Given the description of an element on the screen output the (x, y) to click on. 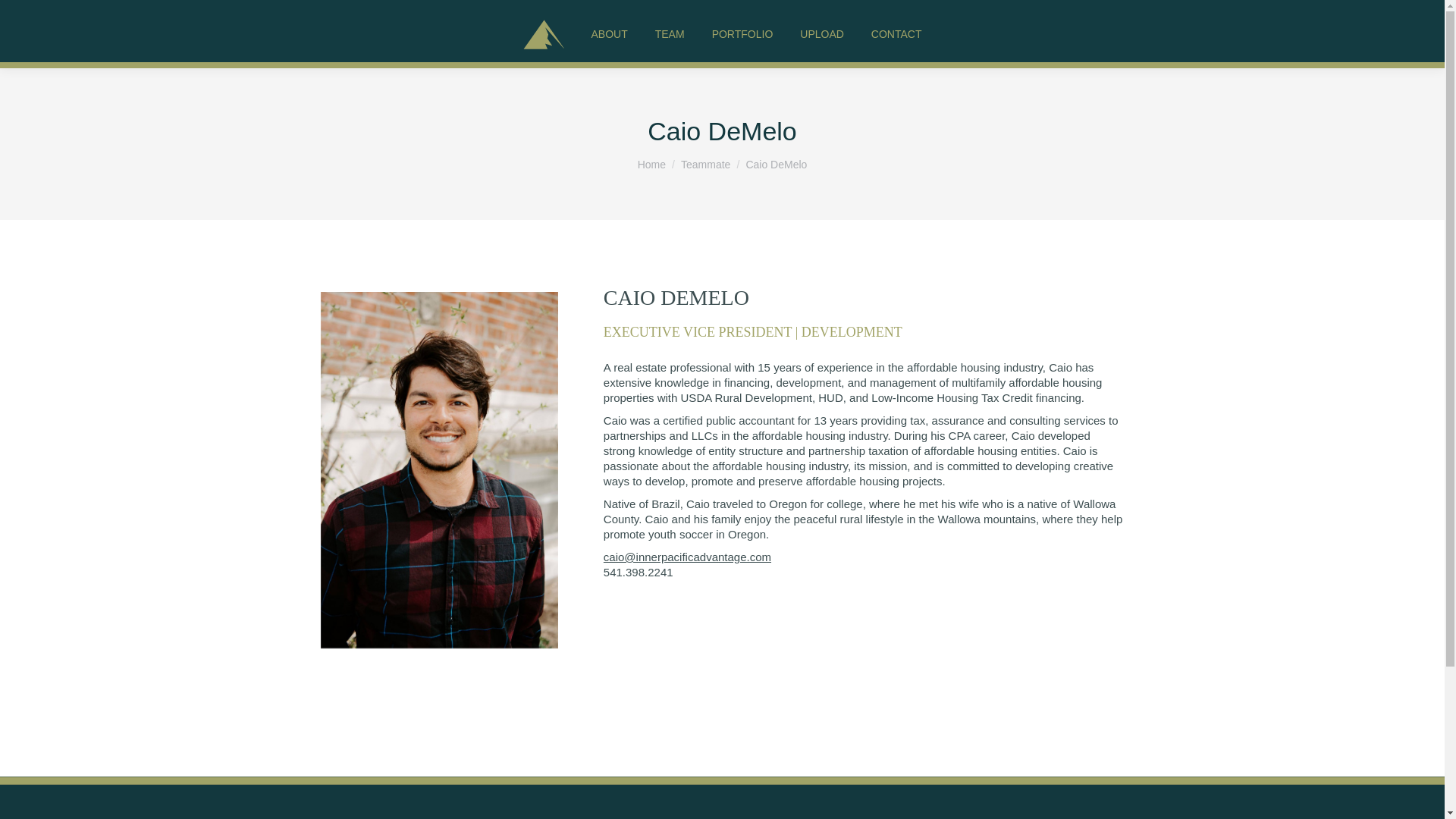
Teammate (705, 164)
UPLOAD (821, 33)
CONTACT (895, 33)
Home (651, 164)
ABOUT (609, 33)
PORTFOLIO (742, 33)
